Given the description of an element on the screen output the (x, y) to click on. 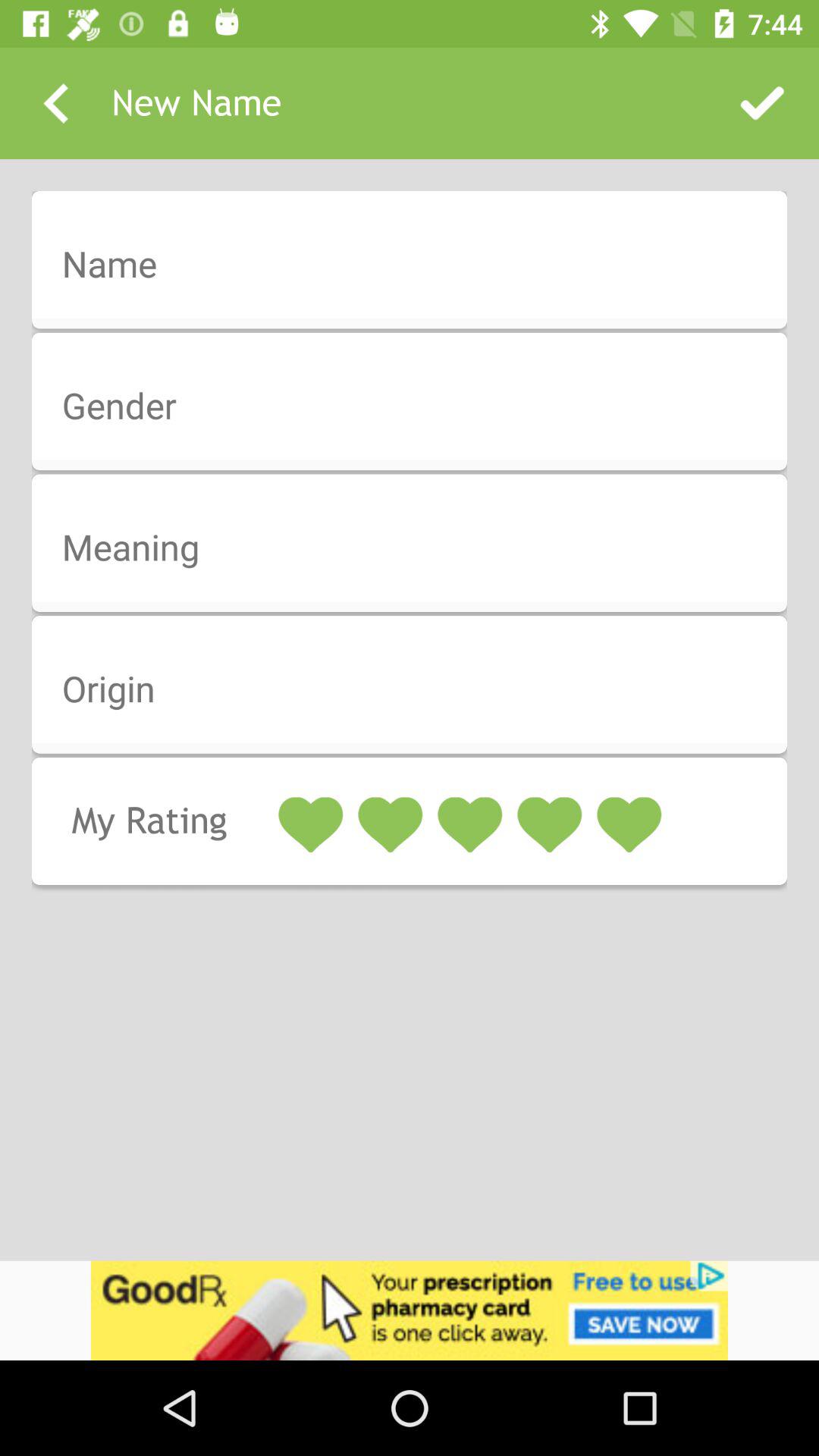
meaning page (419, 548)
